Given the description of an element on the screen output the (x, y) to click on. 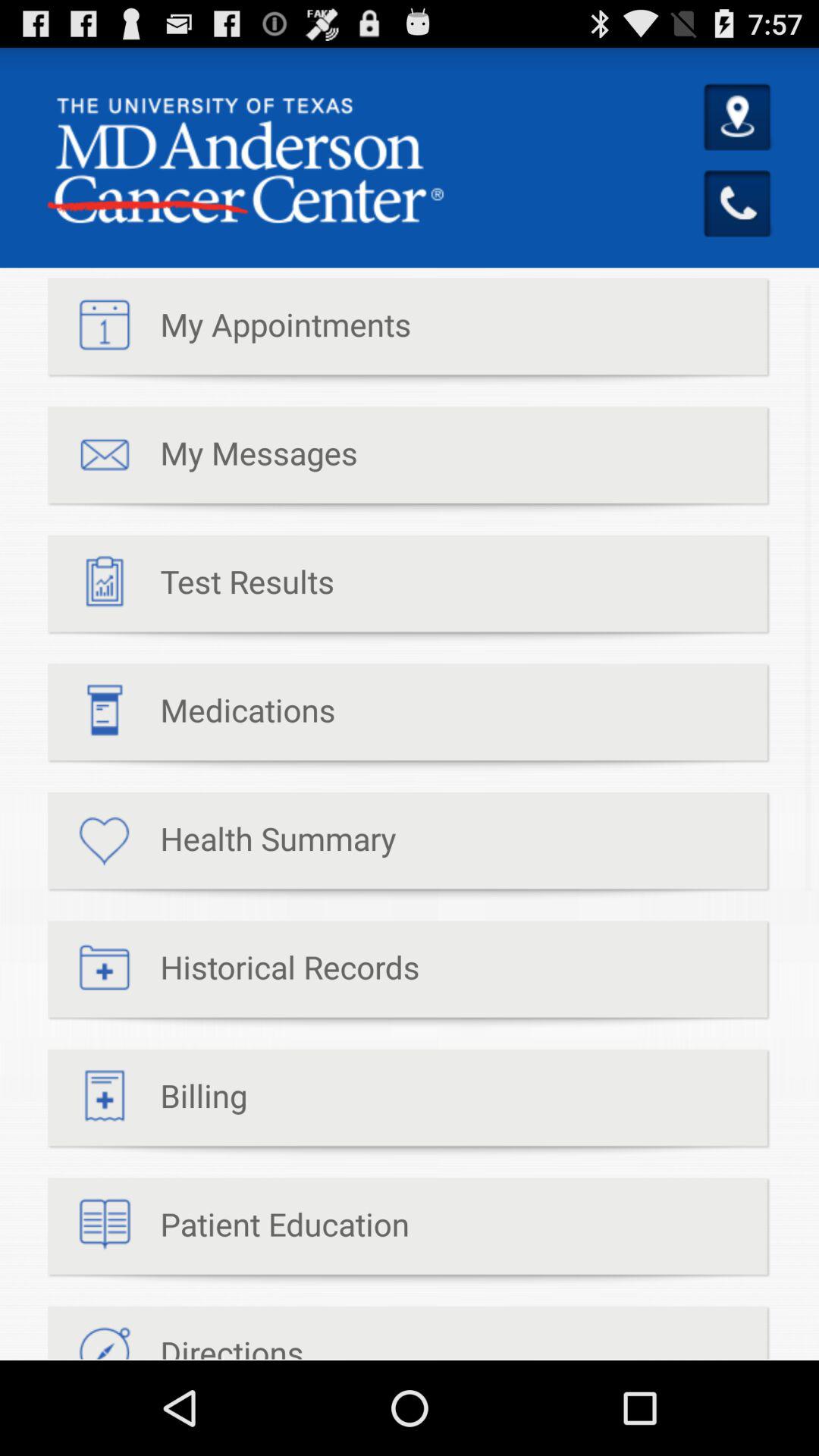
open my appointments item (229, 332)
